Given the description of an element on the screen output the (x, y) to click on. 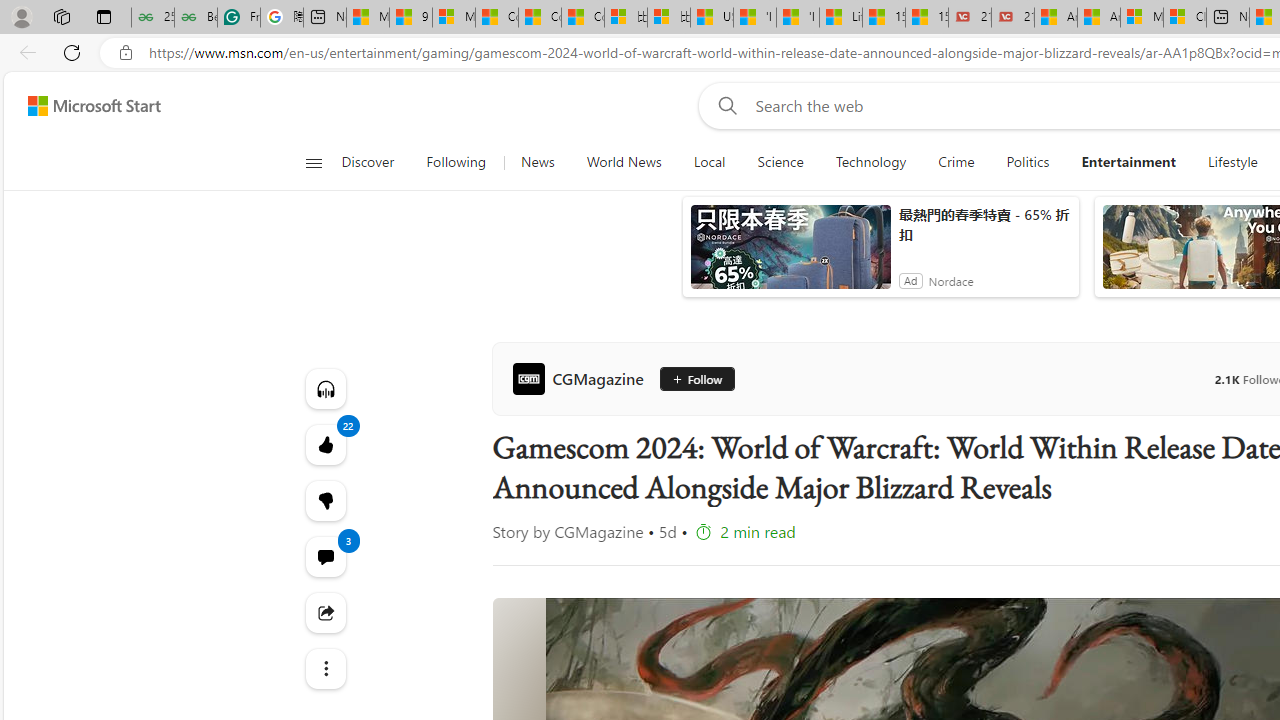
Free AI Writing Assistance for Students | Grammarly (238, 17)
Listen to this article (324, 388)
View comments 3 Comment (324, 556)
Share this story (324, 612)
22 (324, 500)
